Given the description of an element on the screen output the (x, y) to click on. 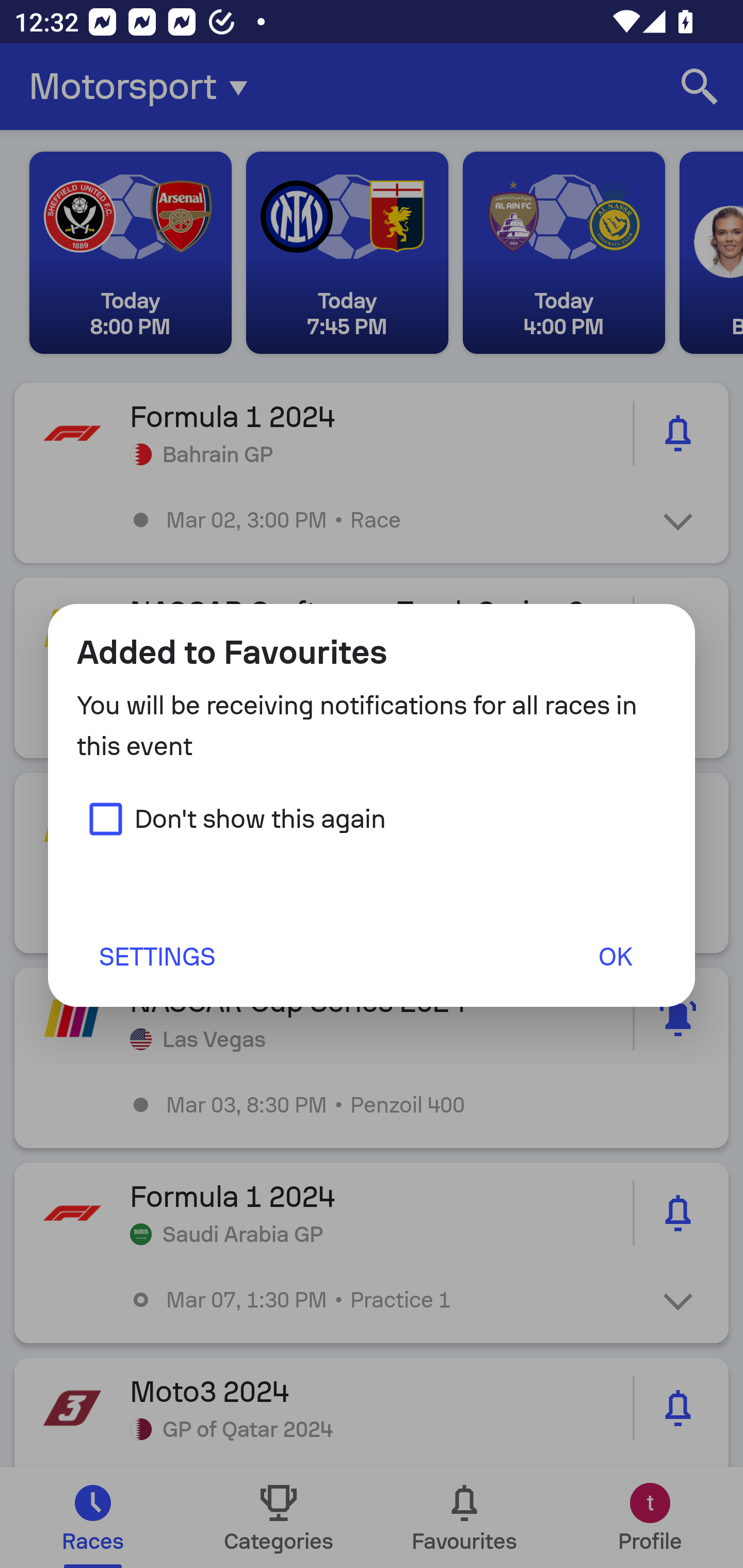
Don't show this again (231, 819)
SETTINGS (156, 956)
OK (615, 956)
